Given the description of an element on the screen output the (x, y) to click on. 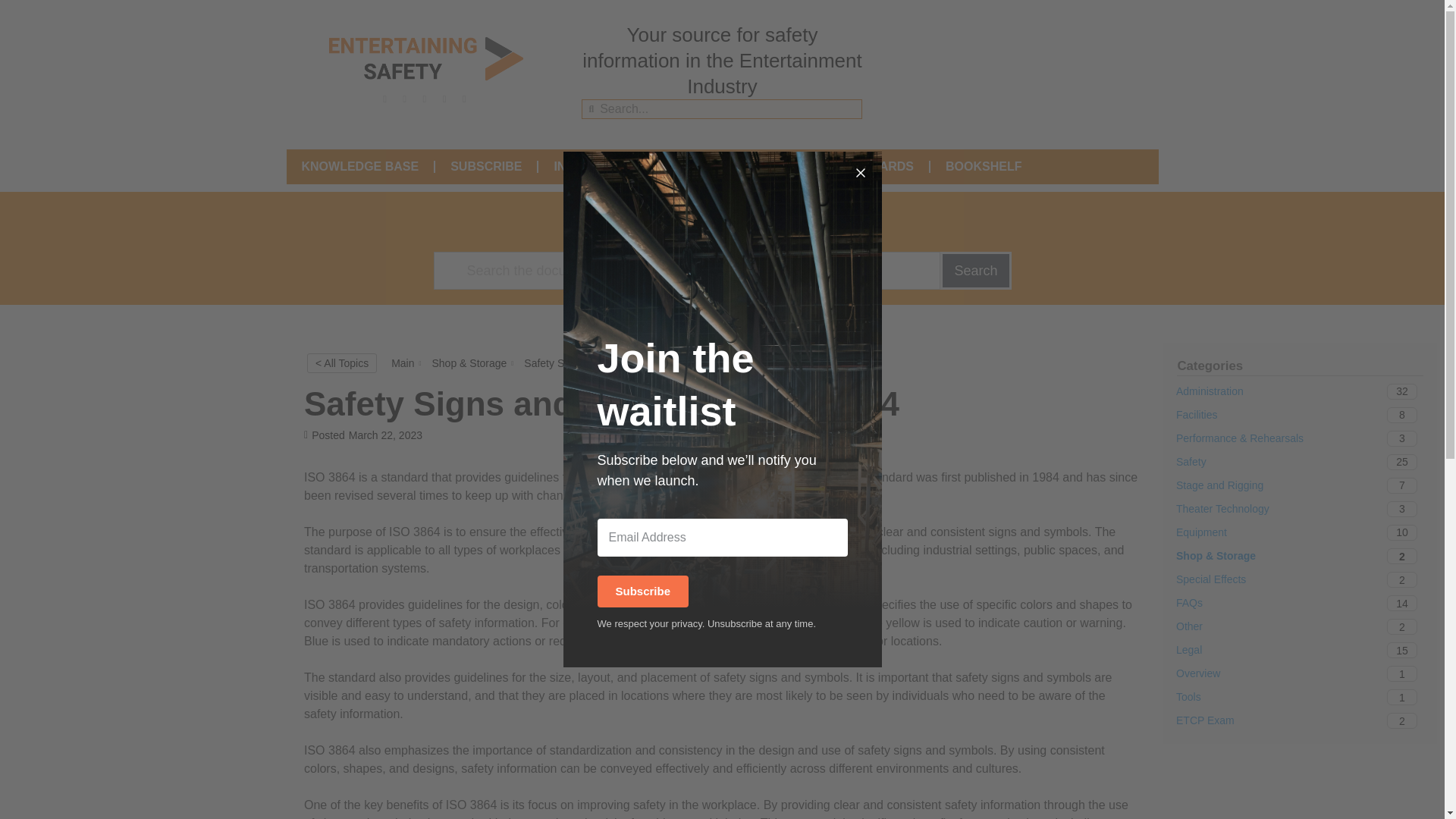
KNOWLEDGE BASE (1299, 720)
Subscribe (1299, 532)
BOOKSHELF (359, 166)
CODES AND STANDARDS (642, 591)
Main (1299, 462)
